Given the description of an element on the screen output the (x, y) to click on. 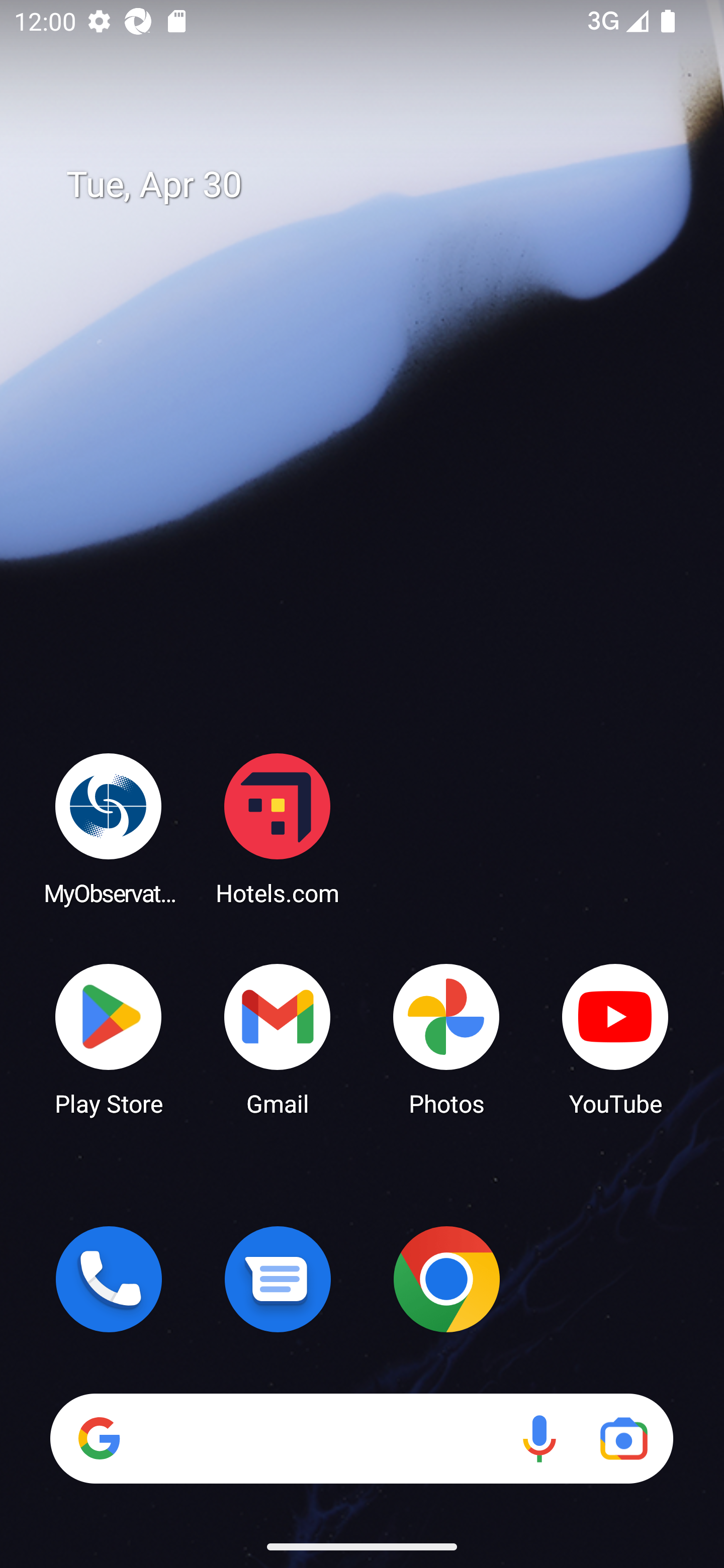
Tue, Apr 30 (375, 184)
MyObservatory (108, 828)
Hotels.com (277, 828)
Play Store (108, 1038)
Gmail (277, 1038)
Photos (445, 1038)
YouTube (615, 1038)
Phone (108, 1279)
Messages (277, 1279)
Chrome (446, 1279)
Search Voice search Google Lens (361, 1438)
Voice search (539, 1438)
Google Lens (623, 1438)
